Given the description of an element on the screen output the (x, y) to click on. 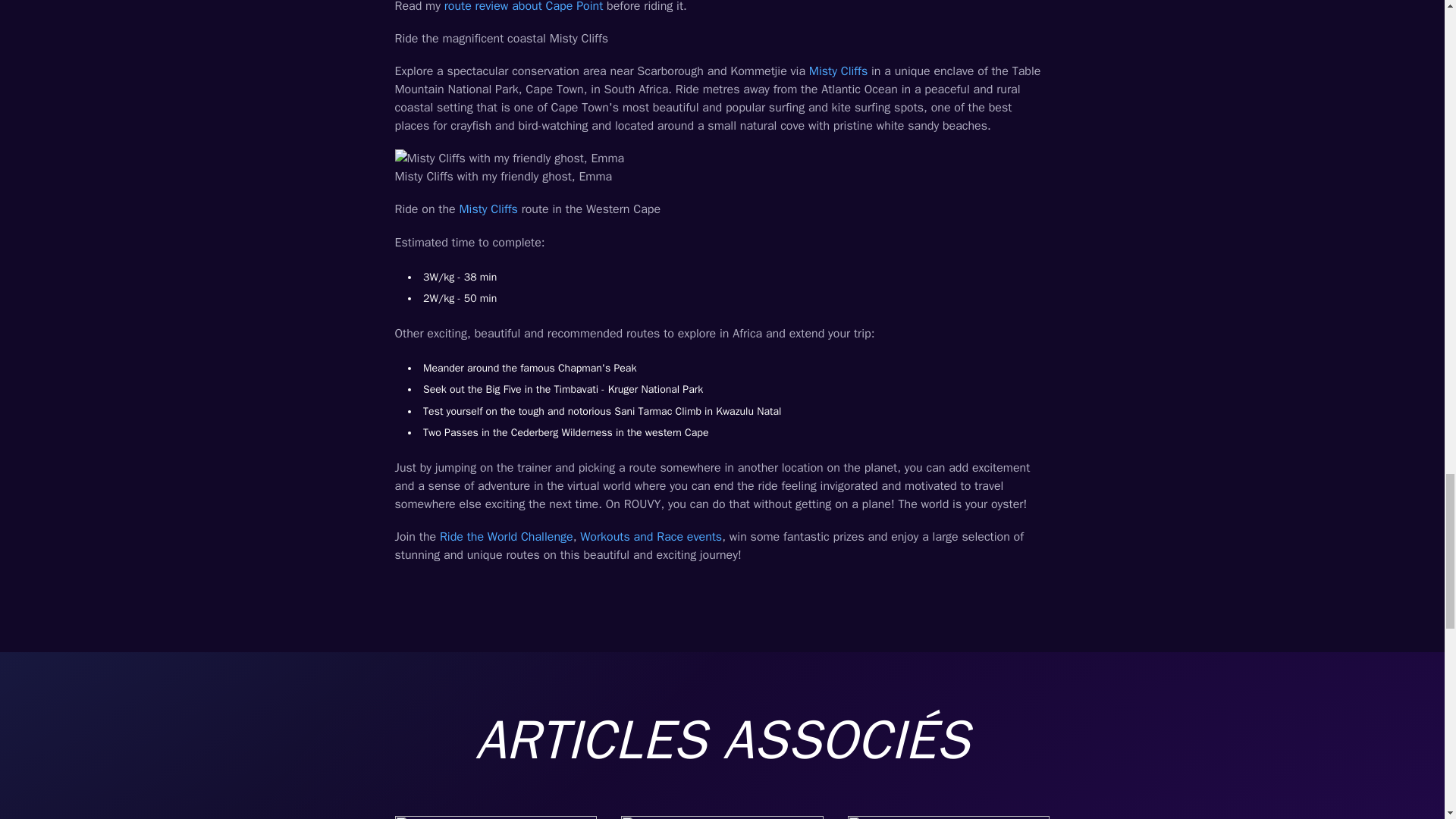
Misty Cliffs (838, 70)
Misty Cliffs (487, 209)
Ride the World Challenge (506, 536)
route review about Cape Point (524, 6)
Workouts and Race events (650, 536)
